Given the description of an element on the screen output the (x, y) to click on. 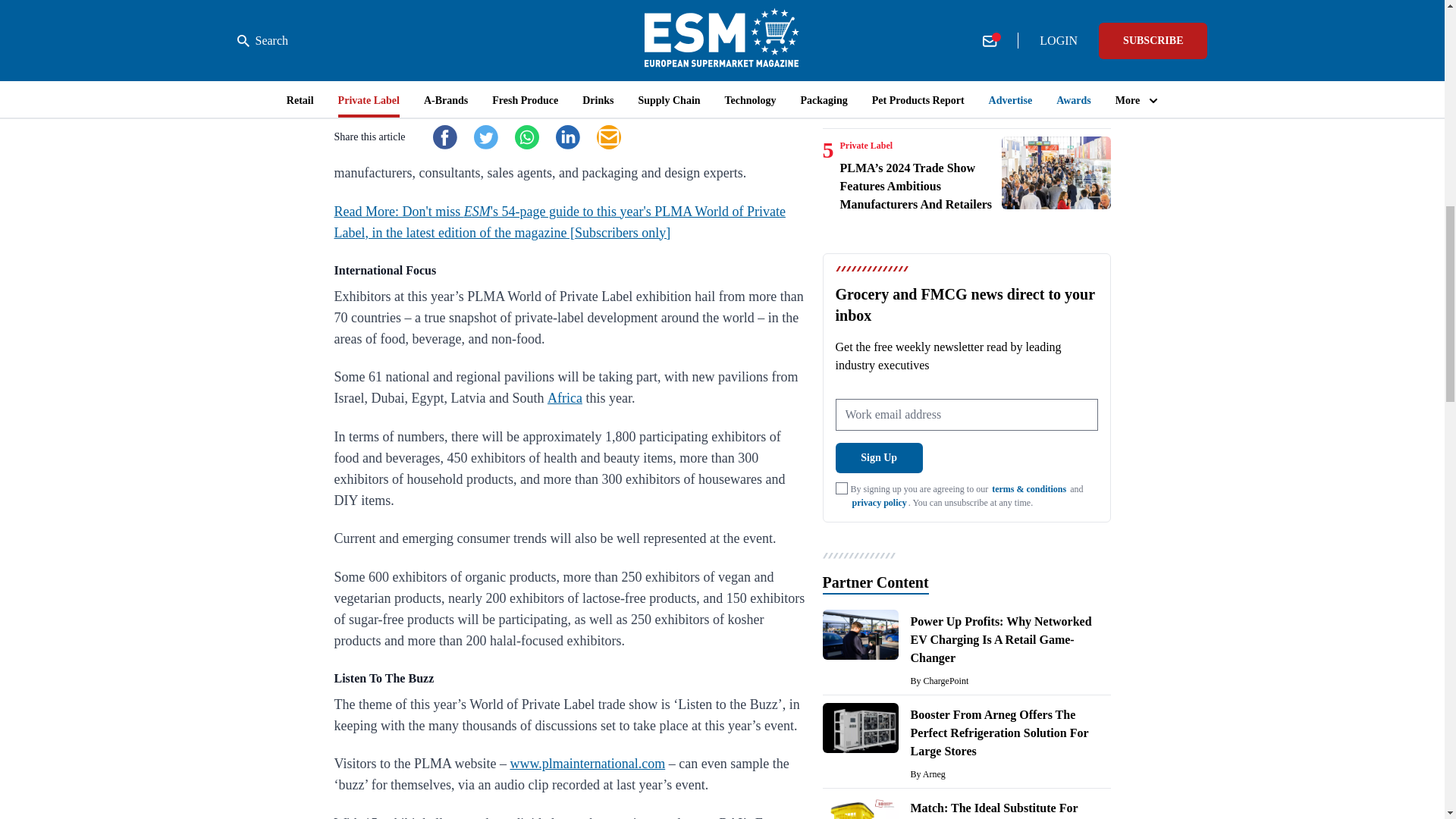
Africa (564, 397)
